Given the description of an element on the screen output the (x, y) to click on. 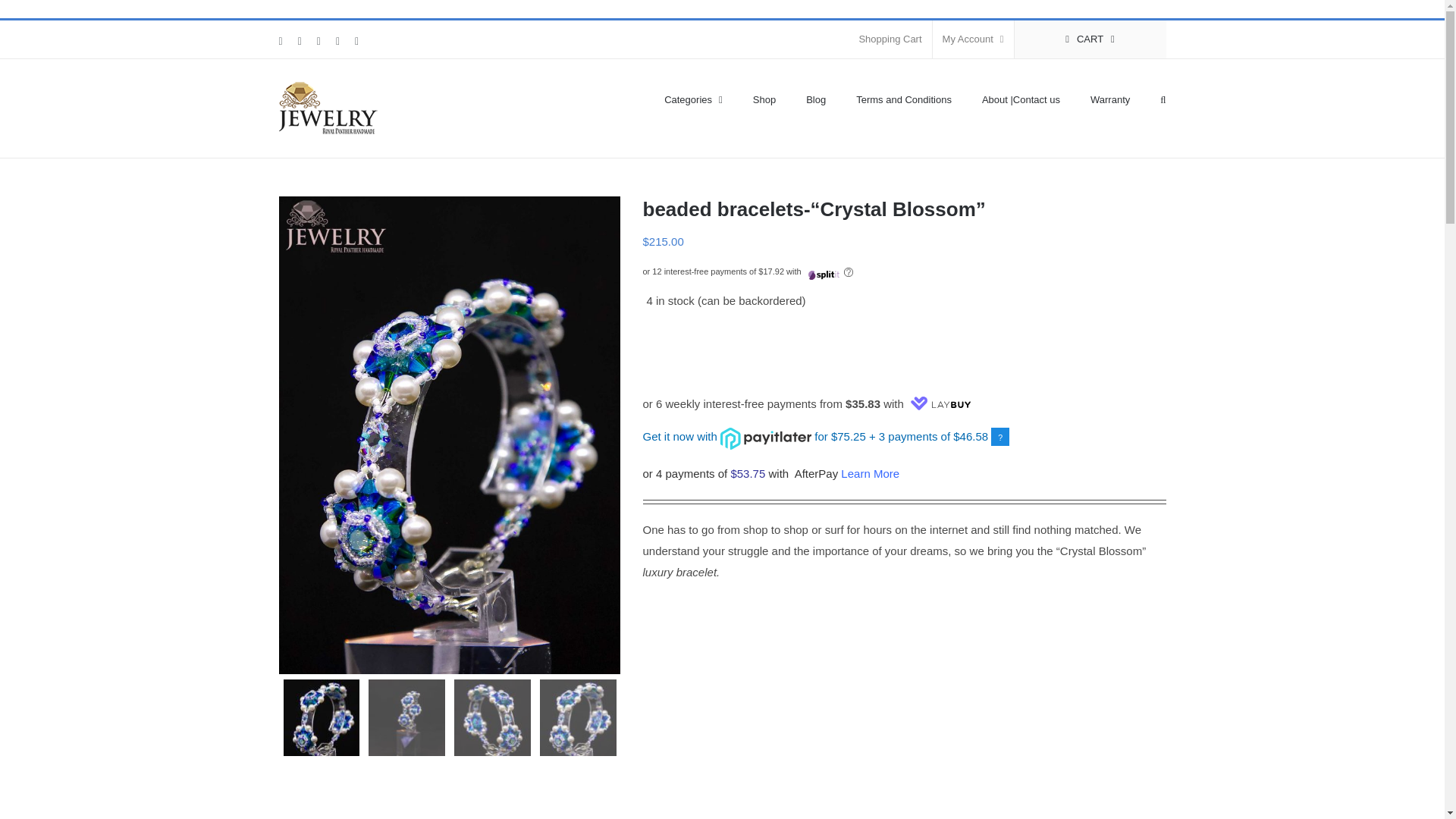
Log In (1034, 183)
My Account (973, 39)
Shopping Cart (889, 39)
CART (1090, 39)
Terms and Conditions (904, 97)
